Given the description of an element on the screen output the (x, y) to click on. 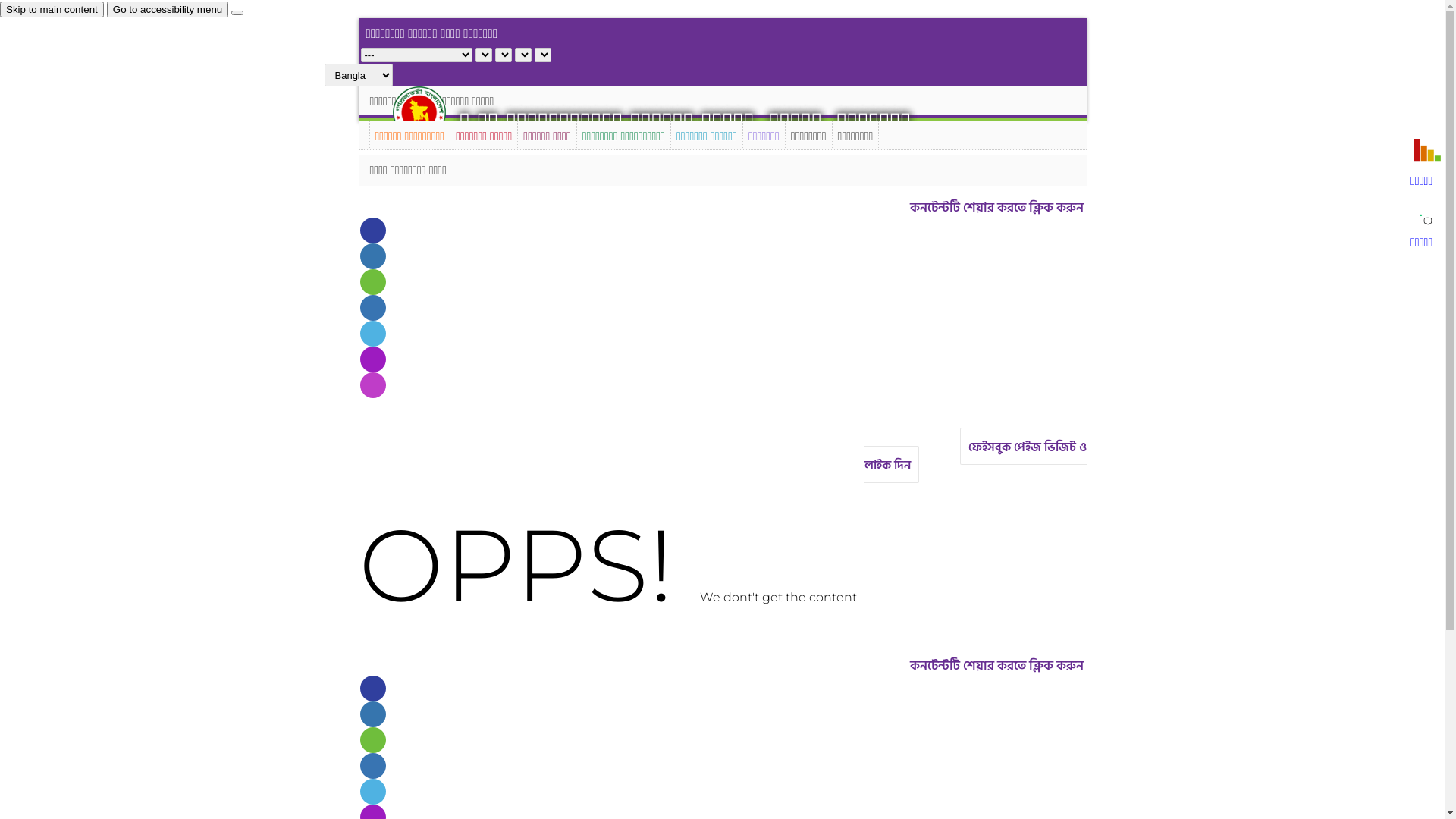
close Element type: hover (237, 12)
Go to accessibility menu Element type: text (167, 9)
Skip to main content Element type: text (51, 9)

                
             Element type: hover (431, 112)
